Given the description of an element on the screen output the (x, y) to click on. 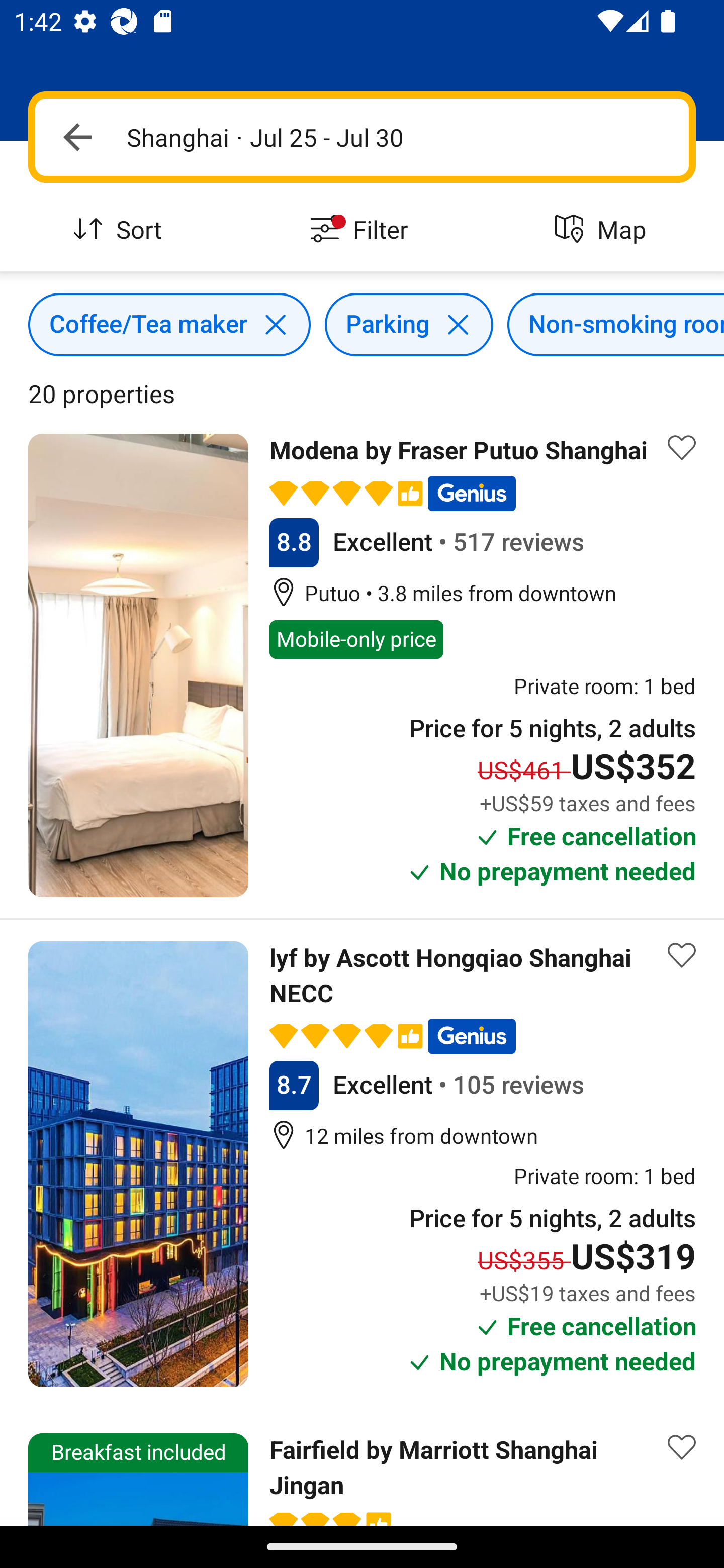
Navigate up Shanghai · Jul 25 - Jul 30 (362, 136)
Navigate up (77, 136)
Sort (120, 230)
Filter (361, 230)
Map (603, 230)
Save property to list (681, 447)
Save property to list (681, 954)
Save property to list (681, 1446)
